Given the description of an element on the screen output the (x, y) to click on. 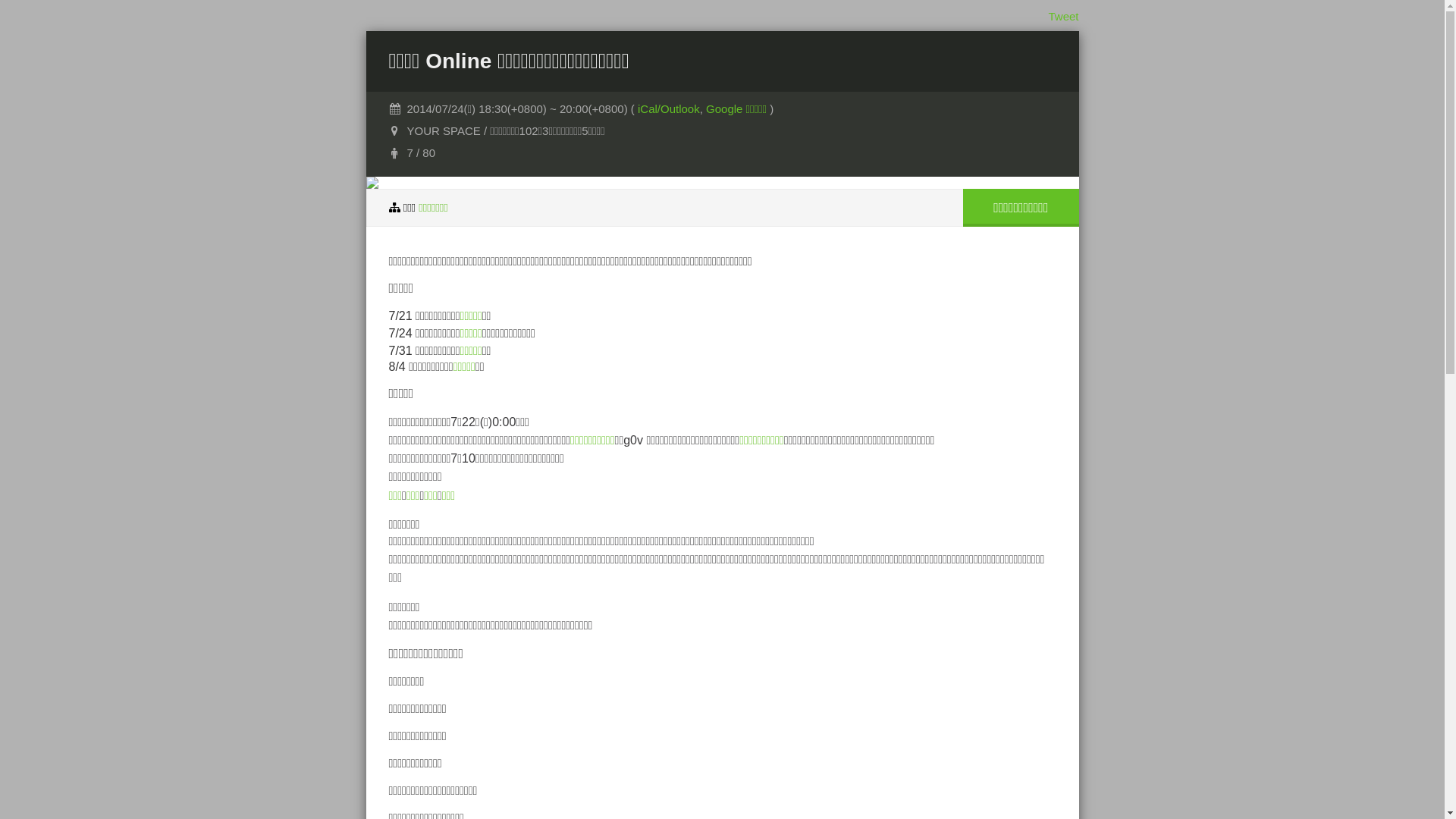
iCal/Outlook Element type: text (668, 108)
Tweet Element type: text (1063, 15)
